Given the description of an element on the screen output the (x, y) to click on. 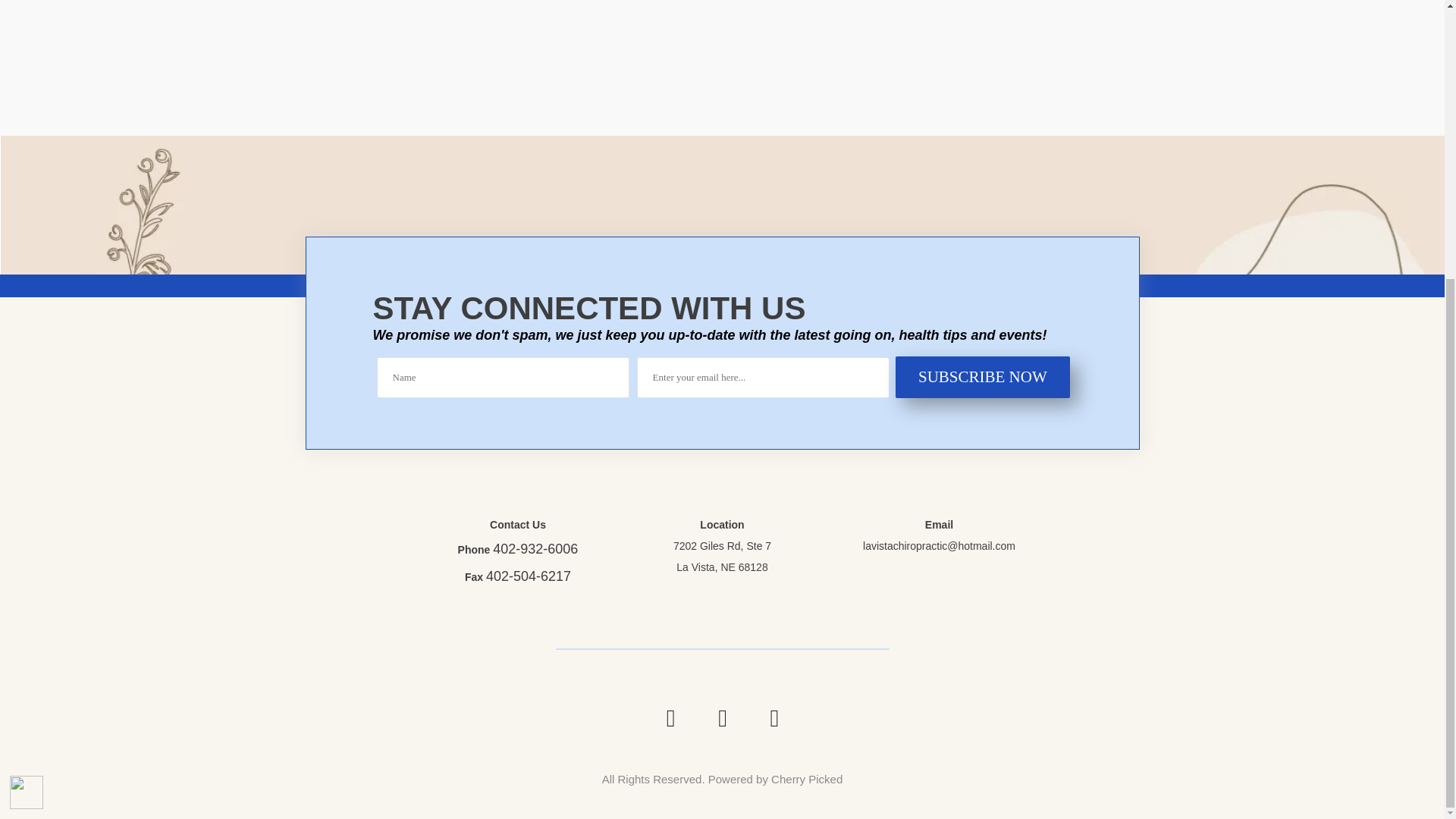
Cherry Picked (807, 779)
SUBSCRIBE NOW (982, 377)
402-504-6217 (528, 575)
402-932-6006 (535, 548)
